Given the description of an element on the screen output the (x, y) to click on. 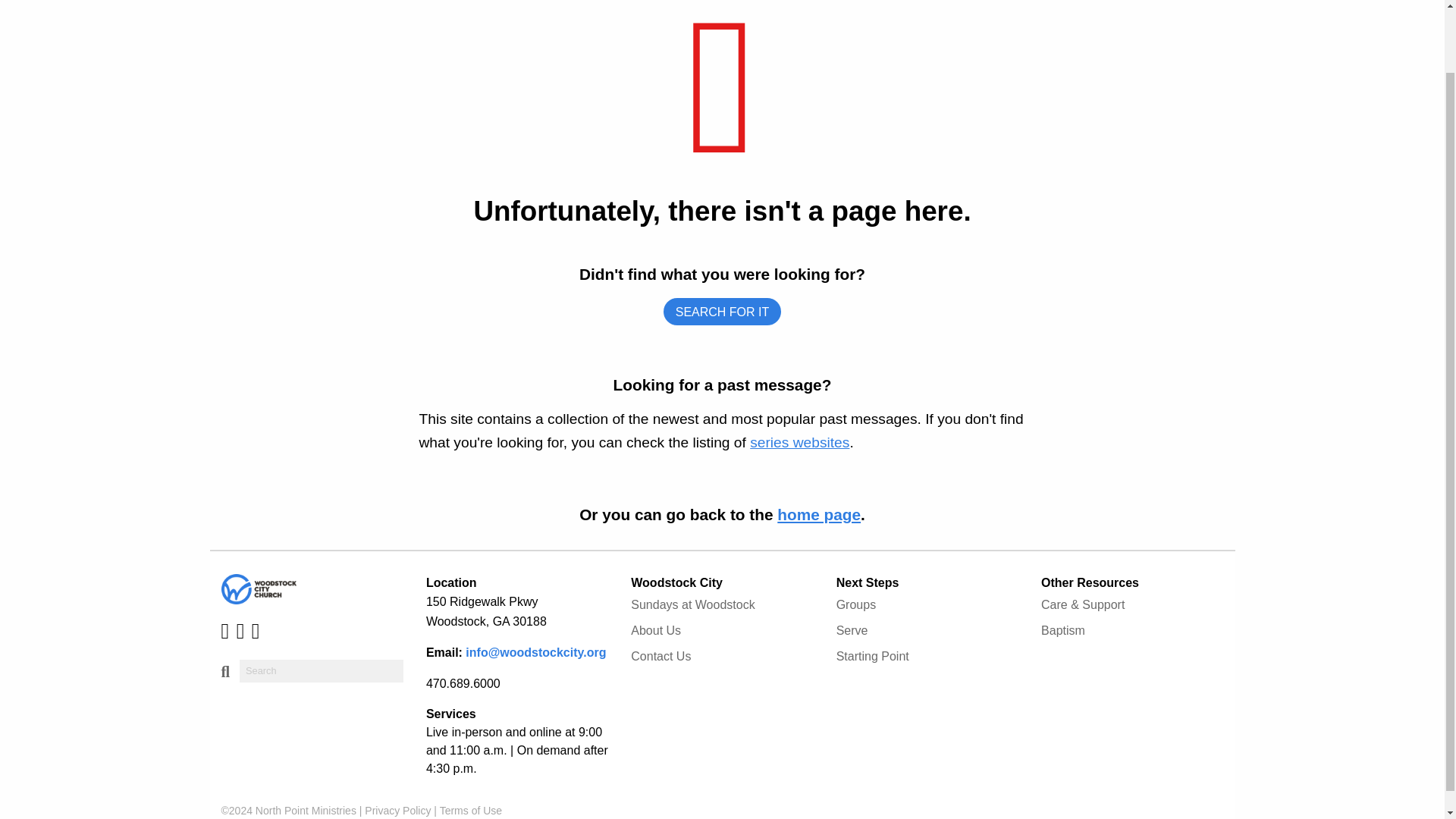
Privacy Policy (397, 810)
Baptism (1132, 630)
home page (818, 514)
Groups (926, 605)
About Us (721, 630)
Serve (926, 630)
Contact Us (721, 656)
Terms of Use (470, 810)
Sundays at Woodstock (721, 605)
SEARCH FOR IT (722, 311)
